Given the description of an element on the screen output the (x, y) to click on. 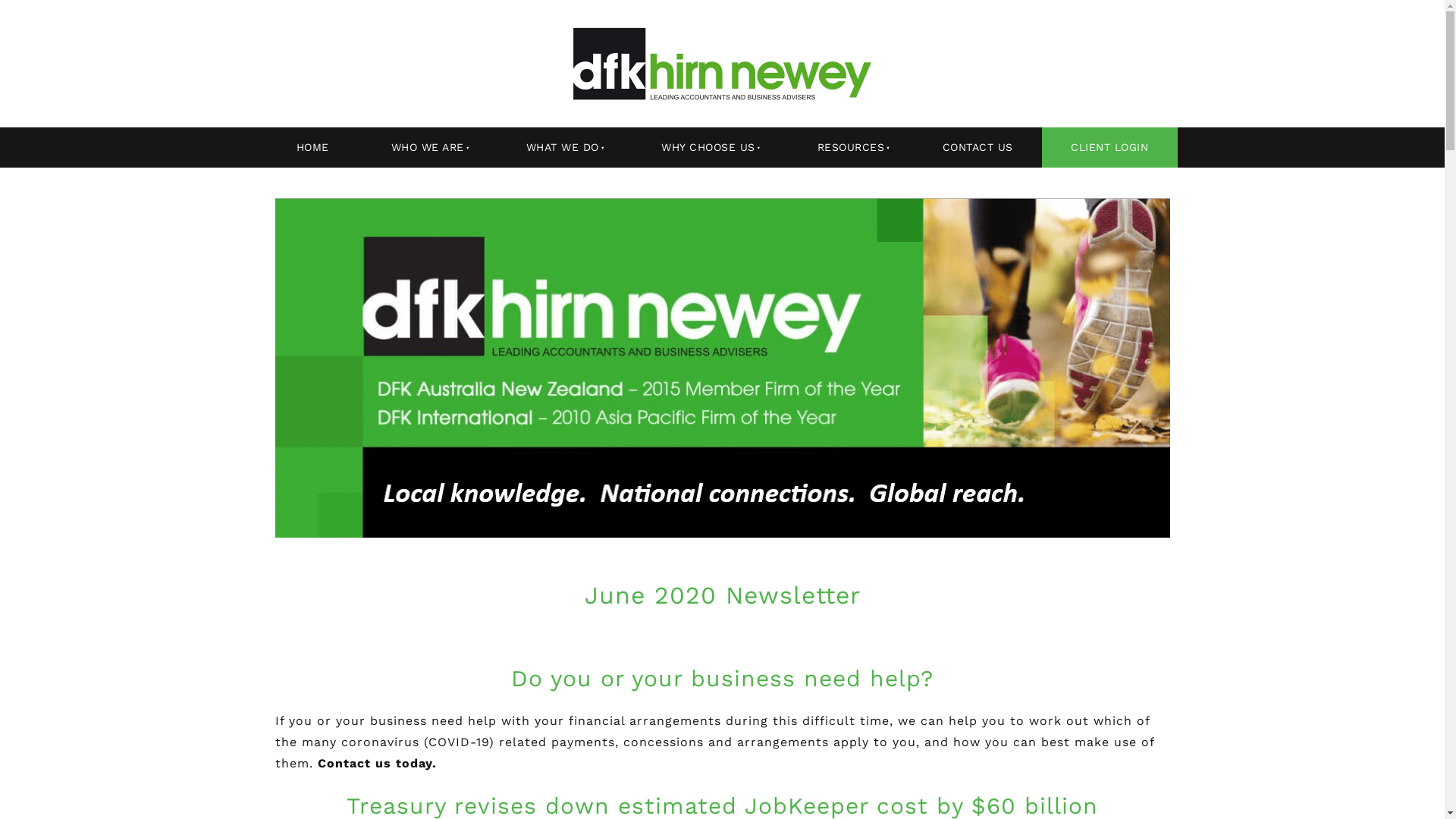
RESOURCES Element type: text (848, 147)
CLIENT LOGIN Element type: text (1109, 147)
WHY CHOOSE US Element type: text (705, 147)
HOME Element type: text (311, 147)
CONTACT US Element type: text (977, 147)
WHAT WE DO Element type: text (559, 147)
WHO WE ARE Element type: text (424, 147)
